Given the description of an element on the screen output the (x, y) to click on. 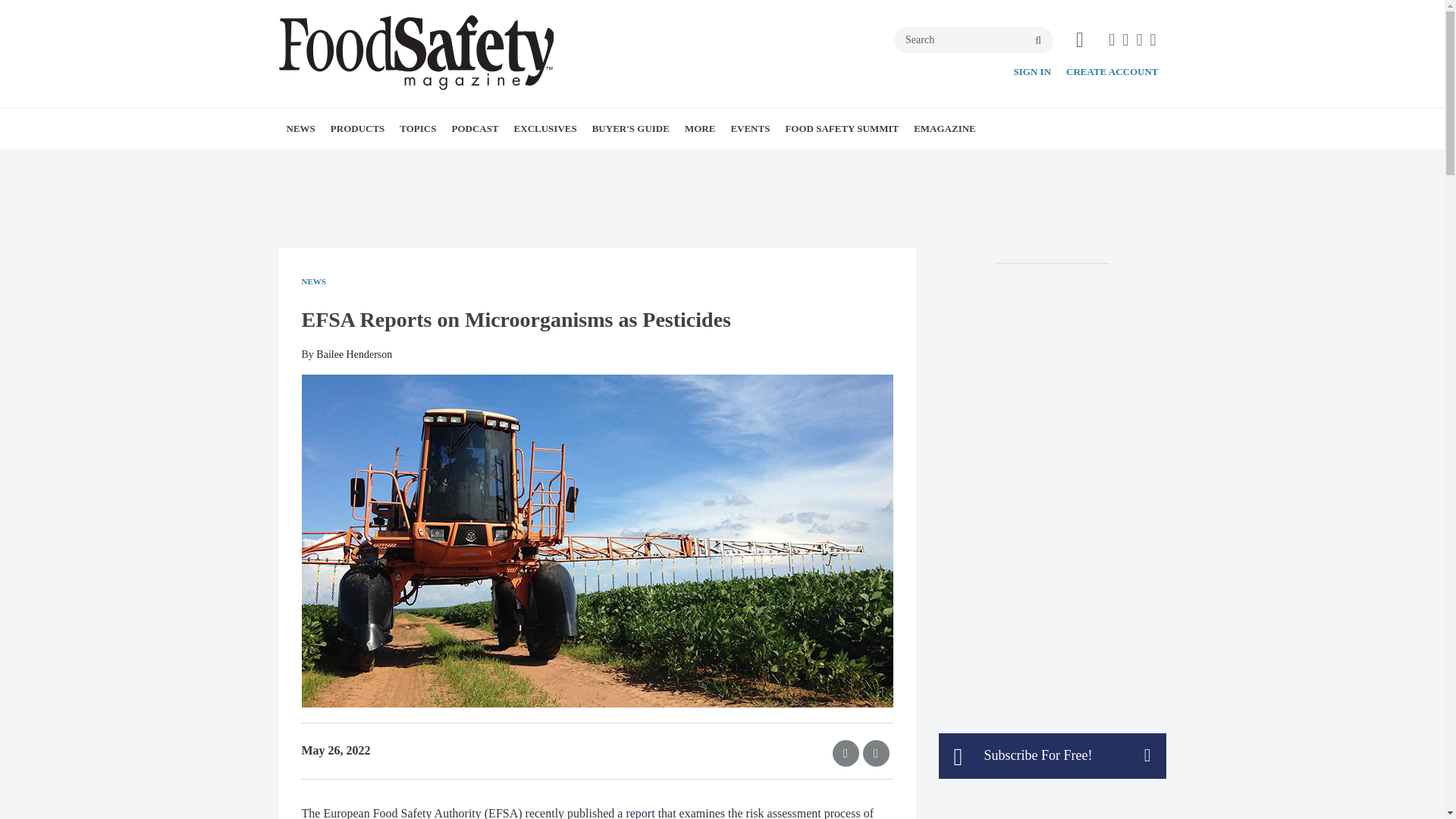
NEWS (301, 128)
SPONSOR INSIGHTS (785, 161)
search (1037, 40)
SUPPLY CHAIN (517, 161)
MANAGEMENT (500, 161)
REGULATORY (509, 161)
TESTING AND ANALYSIS (520, 161)
EBOOKS (600, 161)
SANITATION (515, 161)
CREATE ACCOUNT (1111, 71)
Search (972, 40)
CONTAMINATION CONTROL (485, 161)
PRODUCTS (358, 128)
WHITE PAPERS (380, 161)
EXCLUSIVES (545, 128)
